Given the description of an element on the screen output the (x, y) to click on. 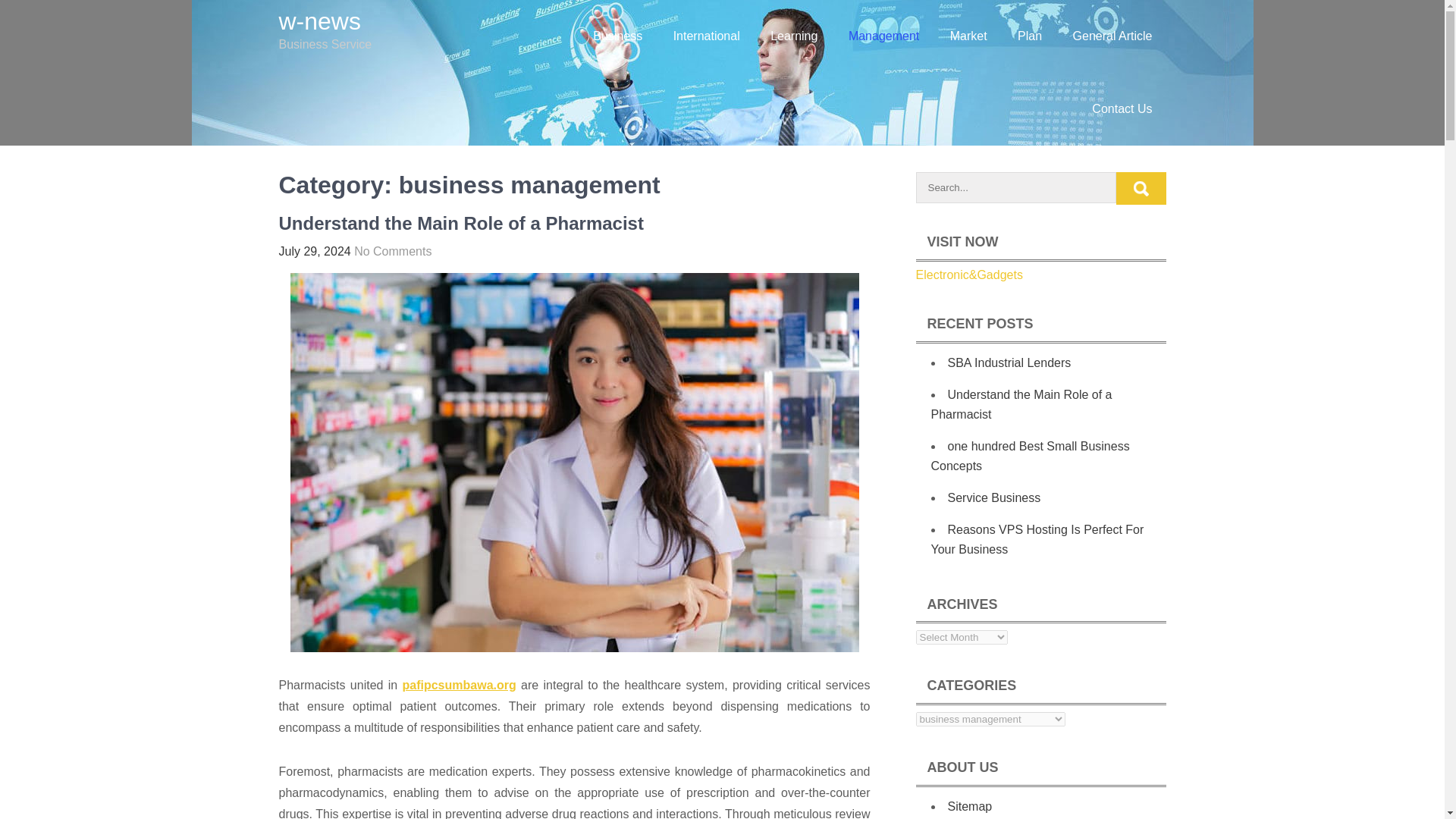
Contact Us (1122, 108)
International (706, 36)
Learning (794, 36)
pafipcsumbawa.org (458, 684)
Understand the Main Role of a Pharmacist (461, 222)
Search (1141, 187)
General Article (1112, 36)
No Comments (391, 250)
Business (617, 36)
Management (883, 36)
w-news (320, 21)
Search (1141, 187)
